Given the description of an element on the screen output the (x, y) to click on. 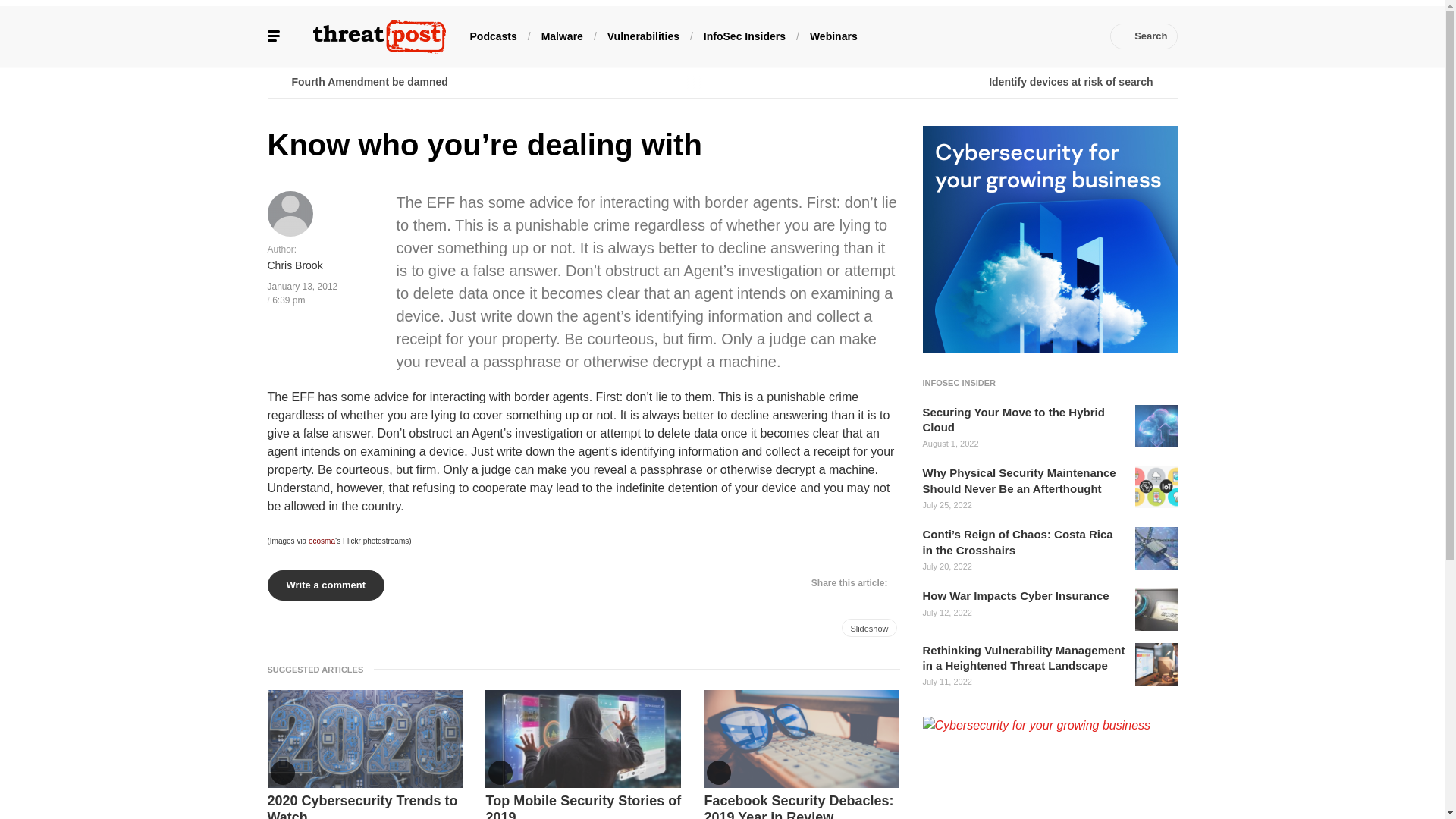
Chris Brook (293, 266)
YouTube (1012, 36)
Identify devices at risk of search (949, 82)
Facebook Security Debacles: 2019 Year in Review (801, 805)
Feedly (1034, 36)
Podcasts (493, 35)
How War Impacts Cyber Insurance (1014, 595)
Facebook (944, 36)
Top Mobile Security Stories of 2019 (582, 805)
